Given the description of an element on the screen output the (x, y) to click on. 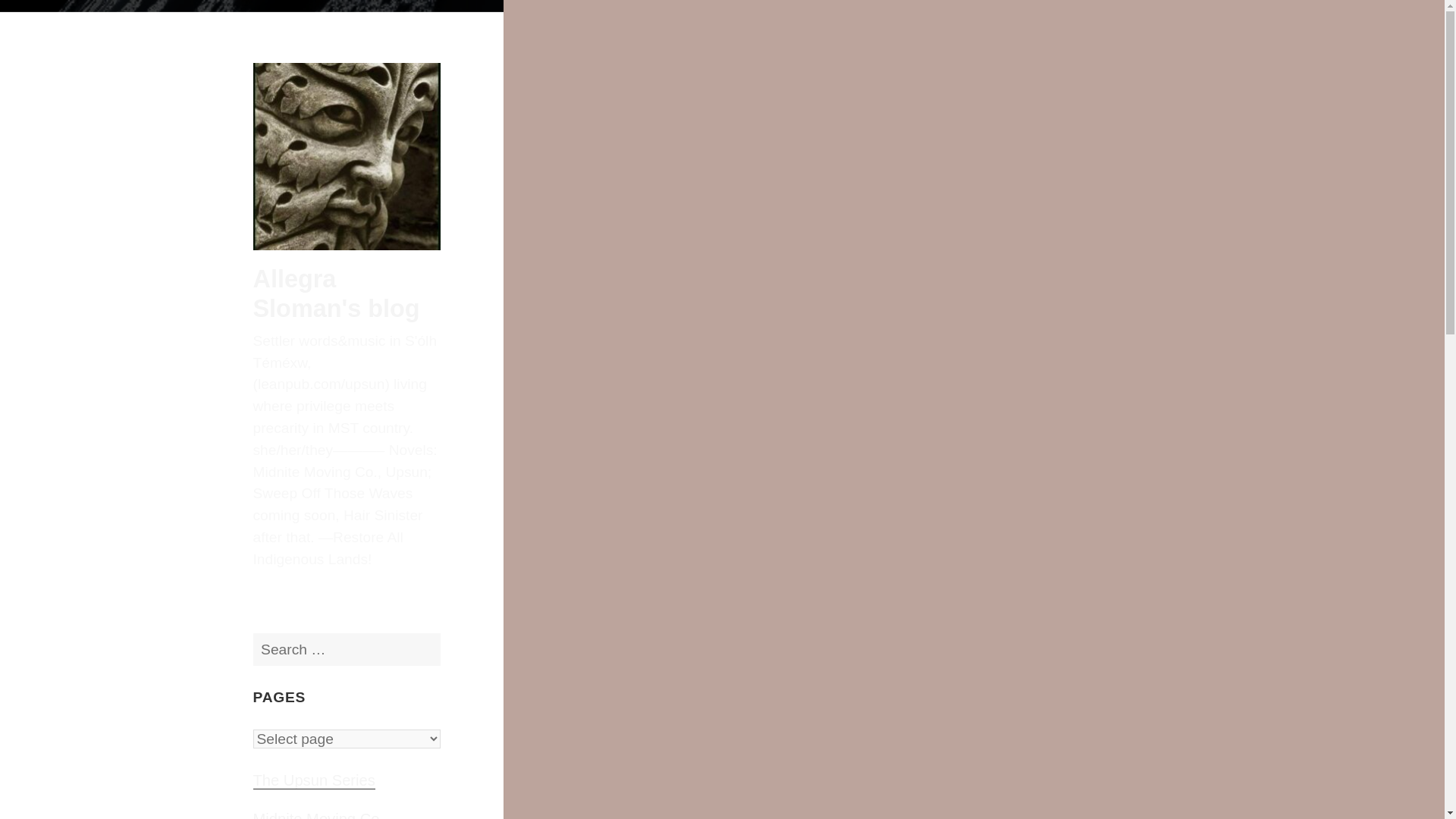
Allegra Sloman's blog (336, 293)
Midnite Moving Co (316, 815)
The Upsun Series (314, 781)
